Given the description of an element on the screen output the (x, y) to click on. 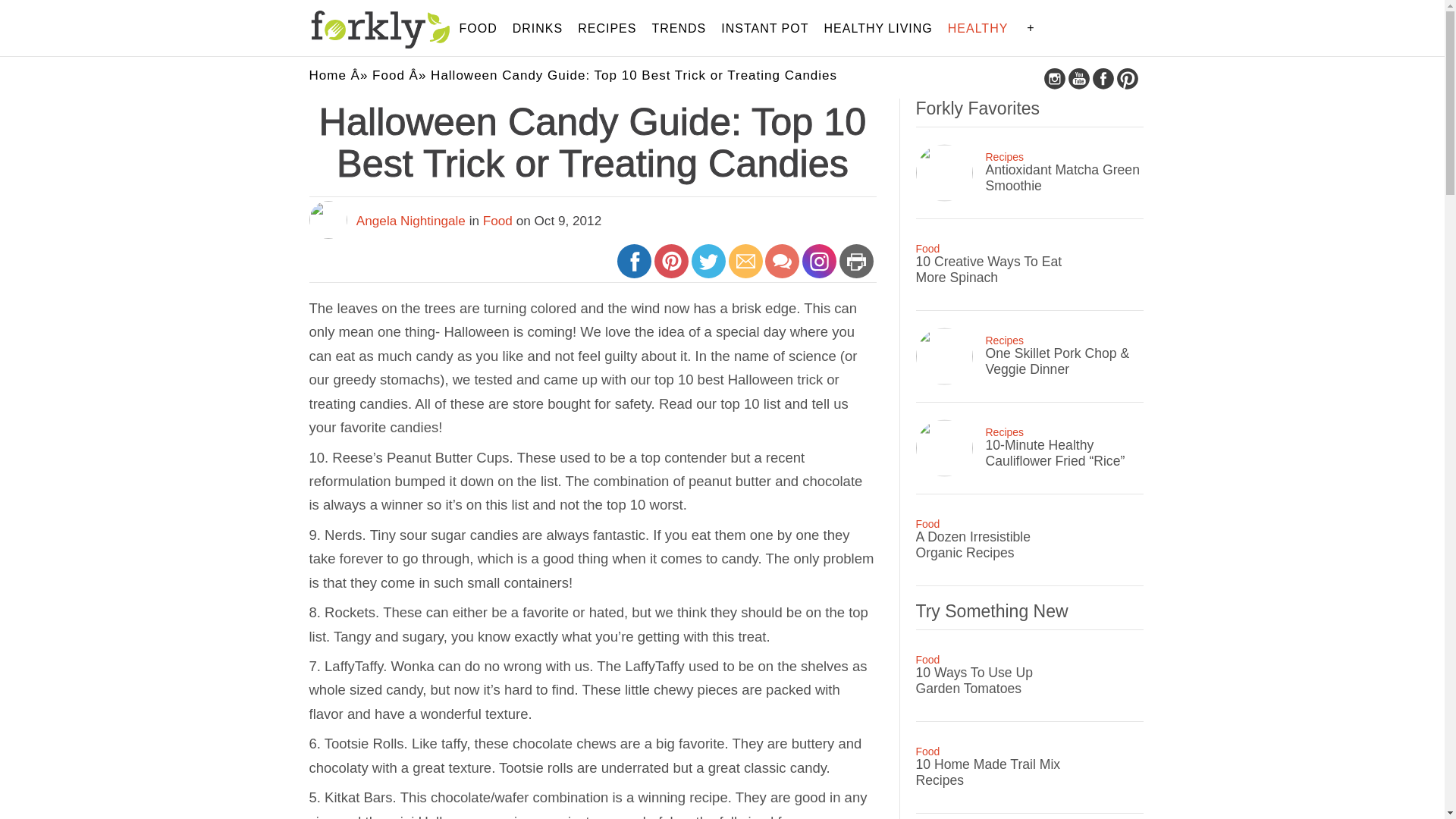
Share by Email (745, 267)
Posts by Angela Nightingale (410, 220)
RECIPES (607, 28)
TRENDS (678, 28)
Angela Nightingale (410, 220)
Food (388, 74)
INSTANT POT (764, 28)
Home (327, 74)
FOOD (478, 28)
Food (497, 220)
